Given the description of an element on the screen output the (x, y) to click on. 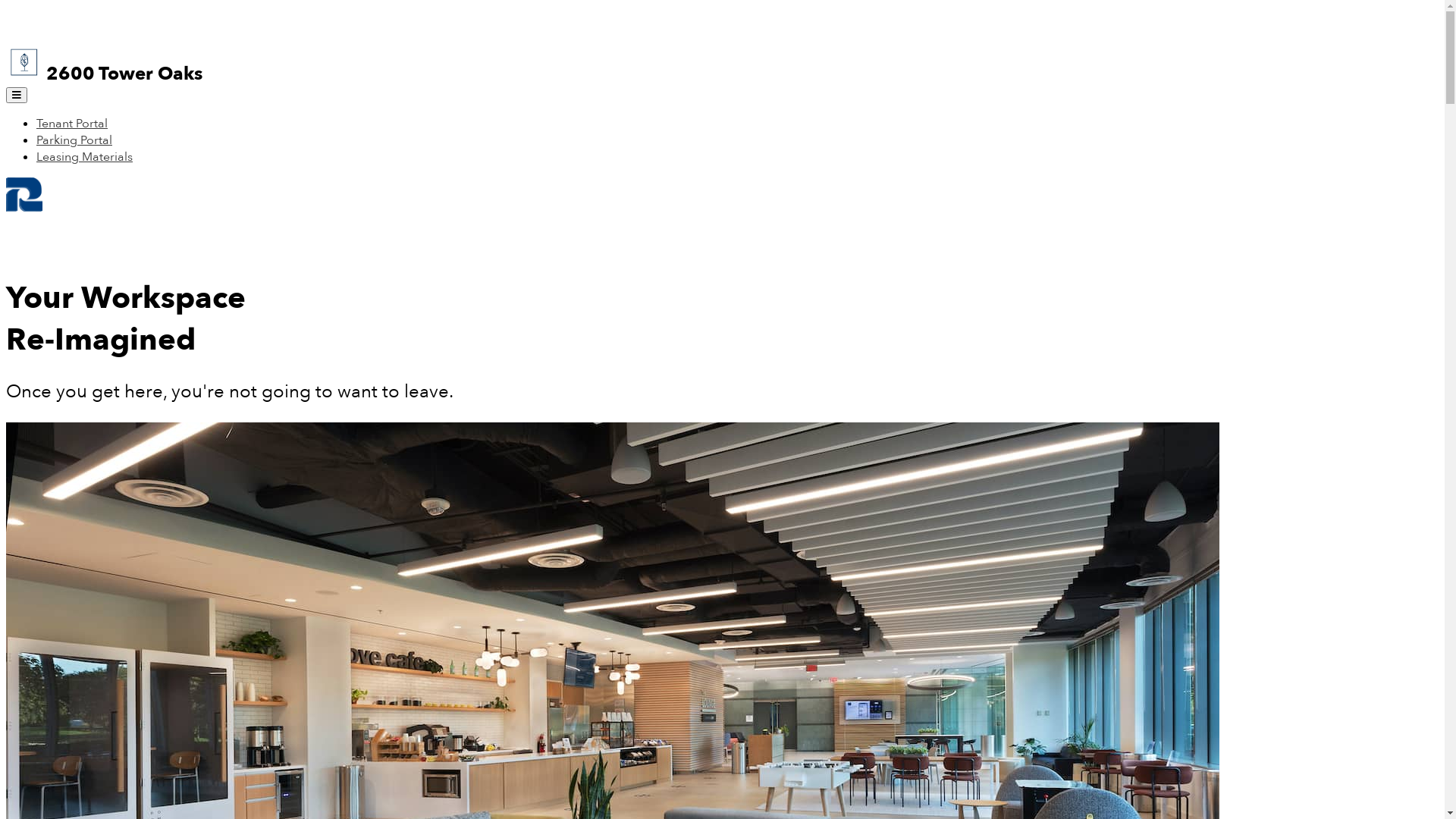
Parking Portal Element type: text (74, 139)
Tenant Portal Element type: text (71, 123)
Leasing Materials Element type: text (84, 156)
